Given the description of an element on the screen output the (x, y) to click on. 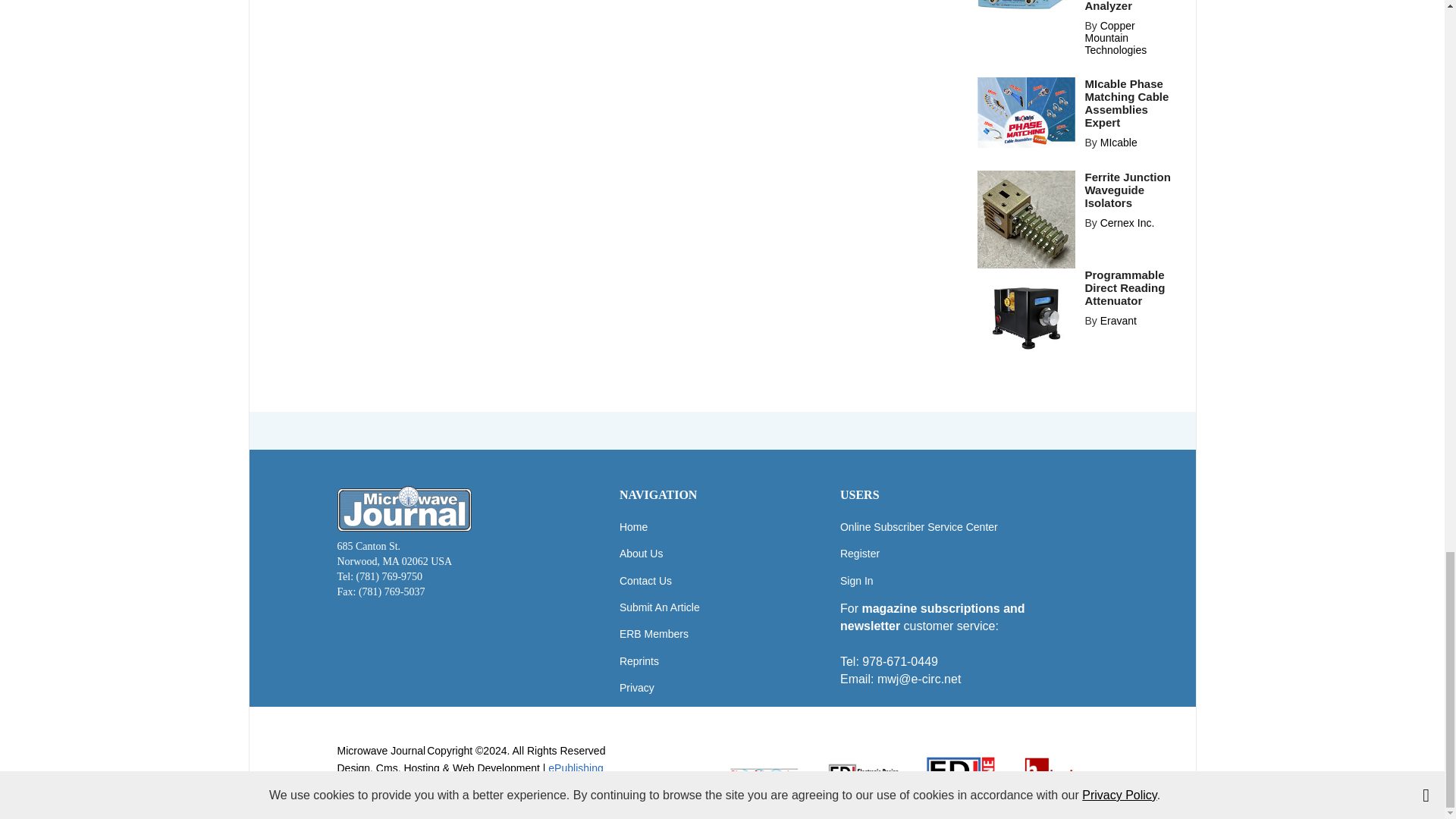
SC7540 Image -left.jpg (1025, 5)
CJI26400416-01 Pict 200x200.jpg (1025, 219)
MIcable Phase Matching Cable Assemblies Expert.jpg (1025, 112)
Eravant.jpg (1025, 317)
